Given the description of an element on the screen output the (x, y) to click on. 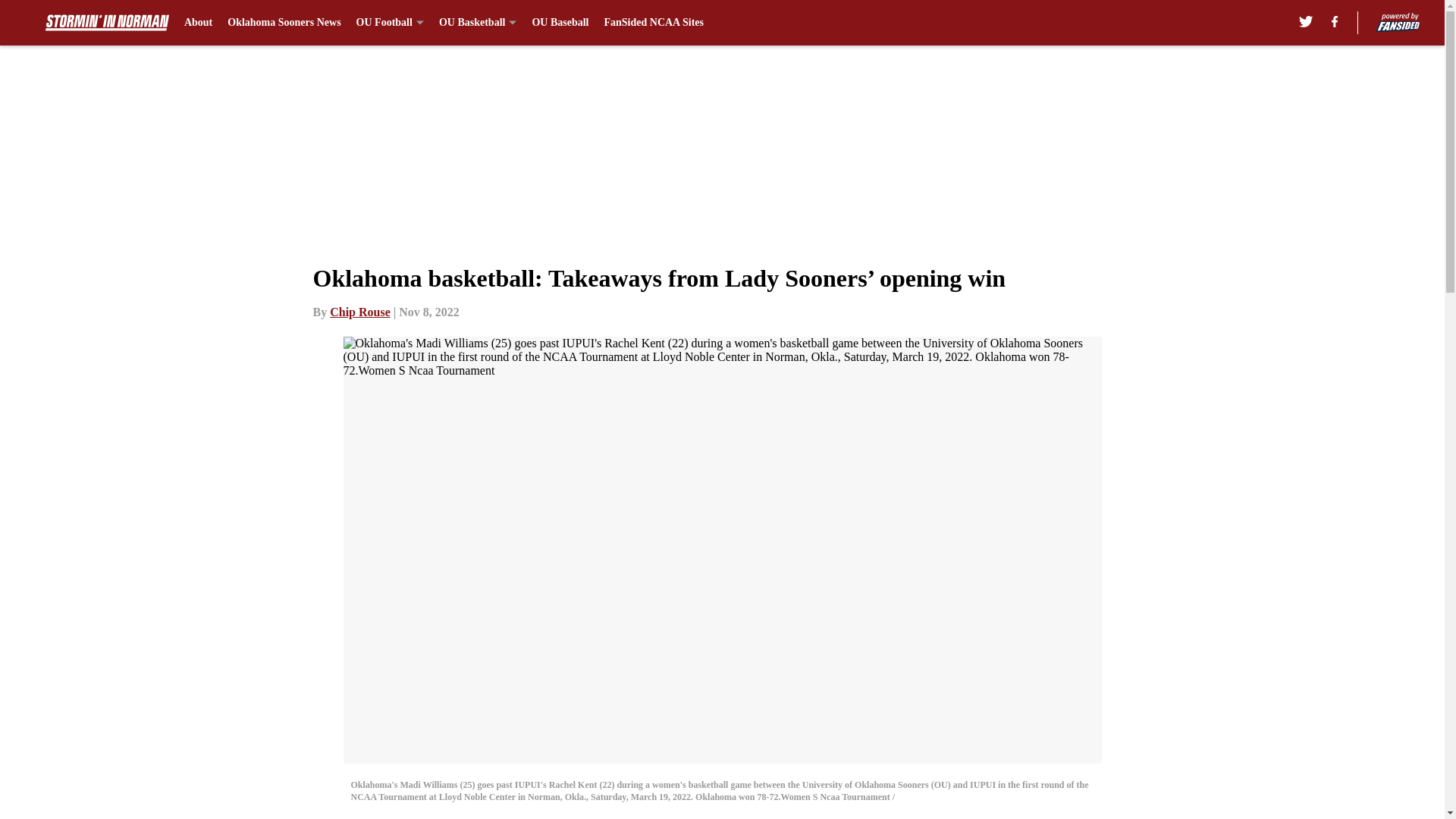
OU Baseball (559, 22)
Oklahoma Sooners News (283, 22)
About (198, 22)
Chip Rouse (360, 311)
FanSided NCAA Sites (653, 22)
